Given the description of an element on the screen output the (x, y) to click on. 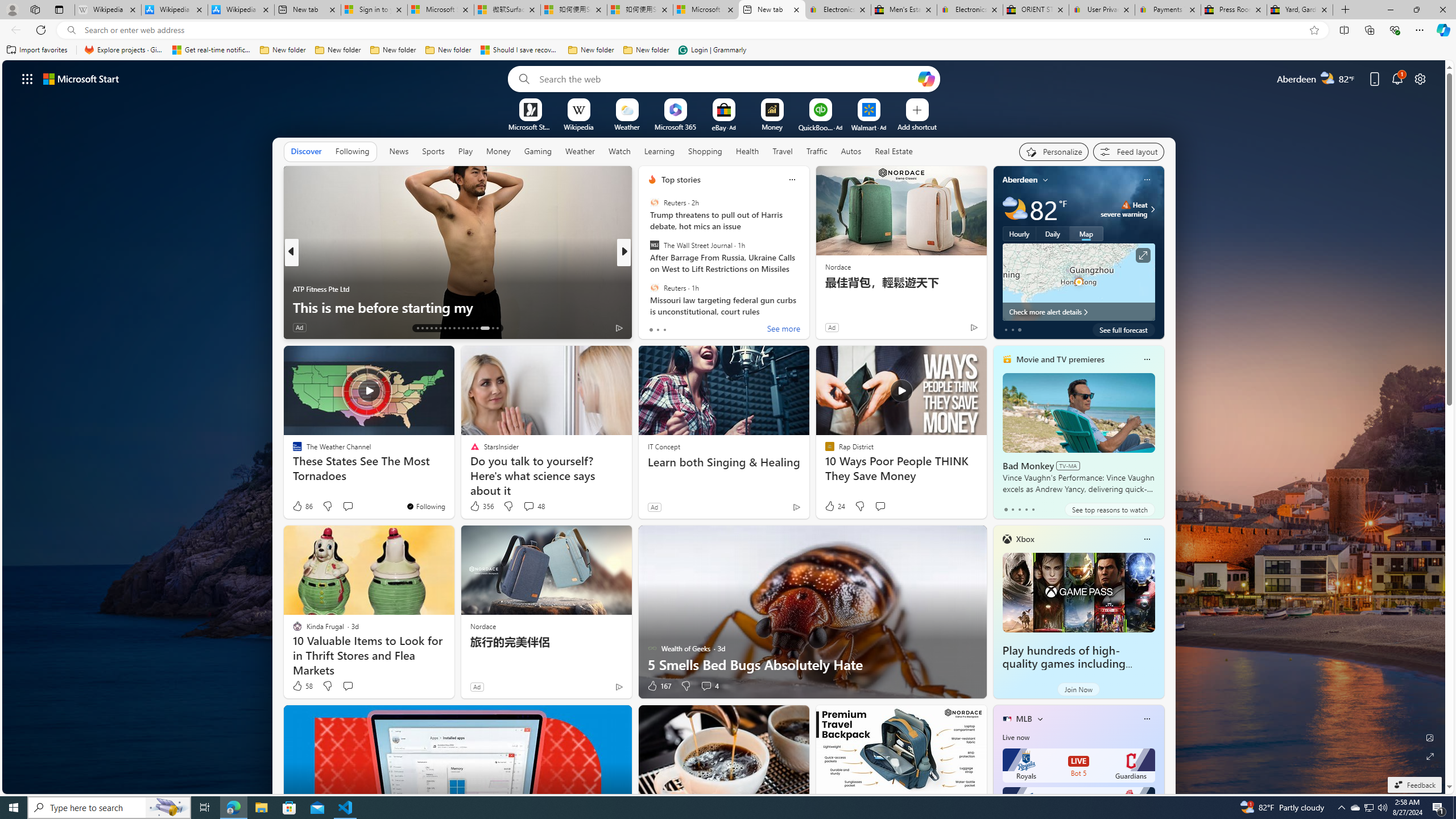
Royals LIVE Bot 5 Guardians (1077, 765)
AutomationID: tab-27 (484, 328)
Autos (851, 151)
90 Like (652, 327)
AutomationID: tab-16 (431, 328)
Check more alert details (1077, 311)
Microsoft Start Gaming (529, 126)
356 Like (480, 505)
You're following Newsweek (253, 329)
User Privacy Notice | eBay (1102, 9)
Money (497, 151)
24 Like (834, 505)
